Given the description of an element on the screen output the (x, y) to click on. 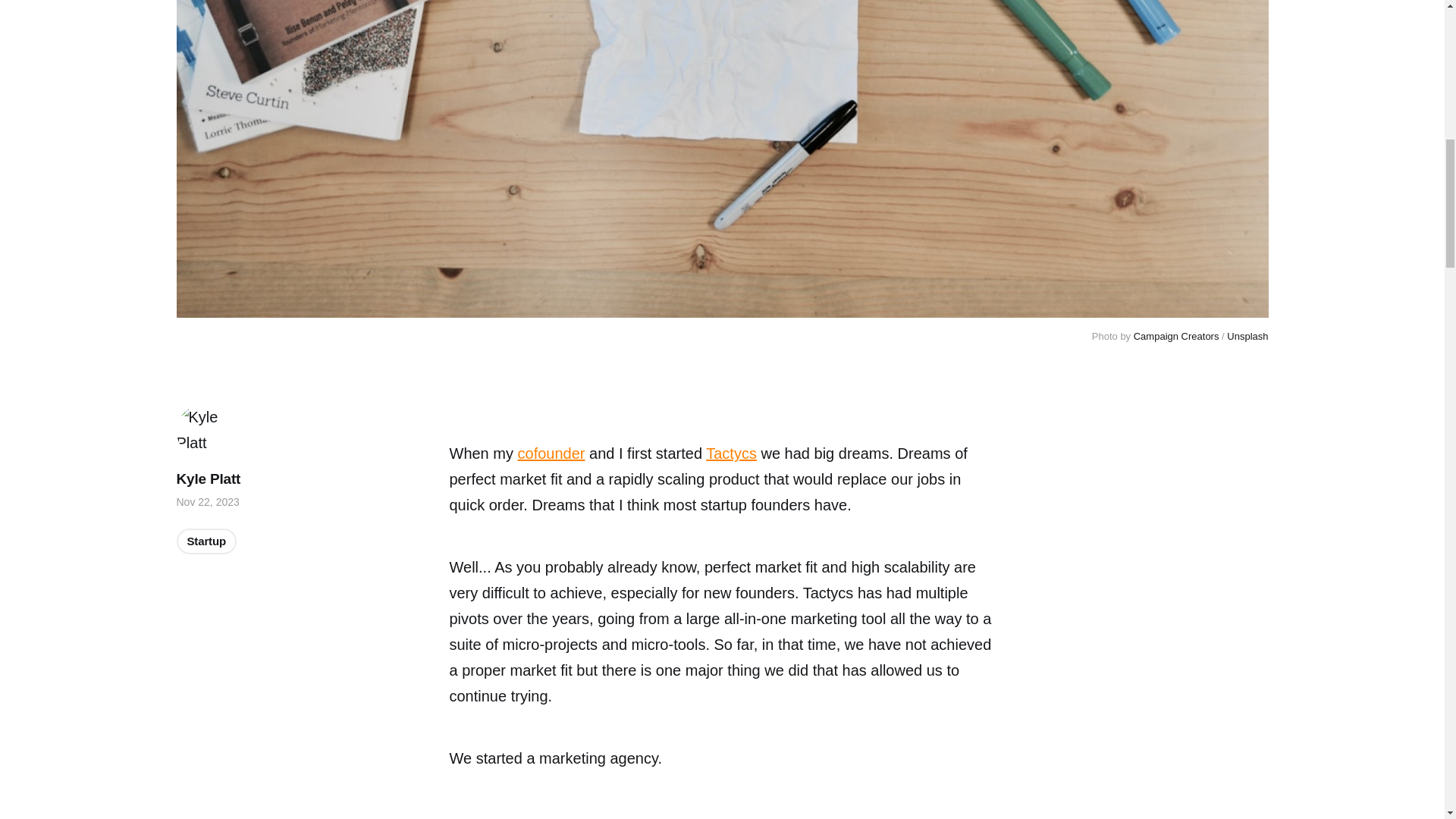
Unsplash (1247, 336)
cofounder (551, 453)
Tactycs (731, 453)
Kyle Platt (208, 478)
Campaign Creators (1177, 336)
Startup (205, 541)
